Given the description of an element on the screen output the (x, y) to click on. 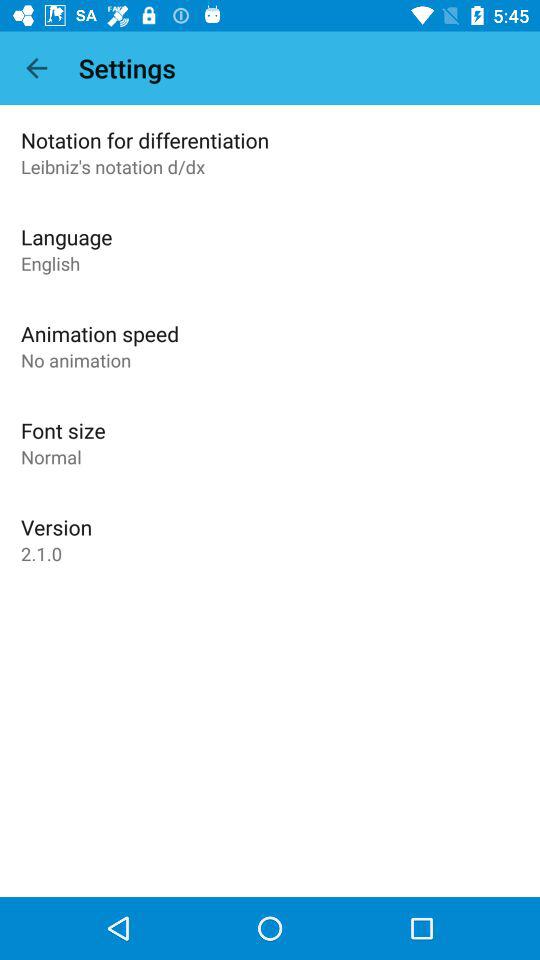
go back (36, 68)
